Given the description of an element on the screen output the (x, y) to click on. 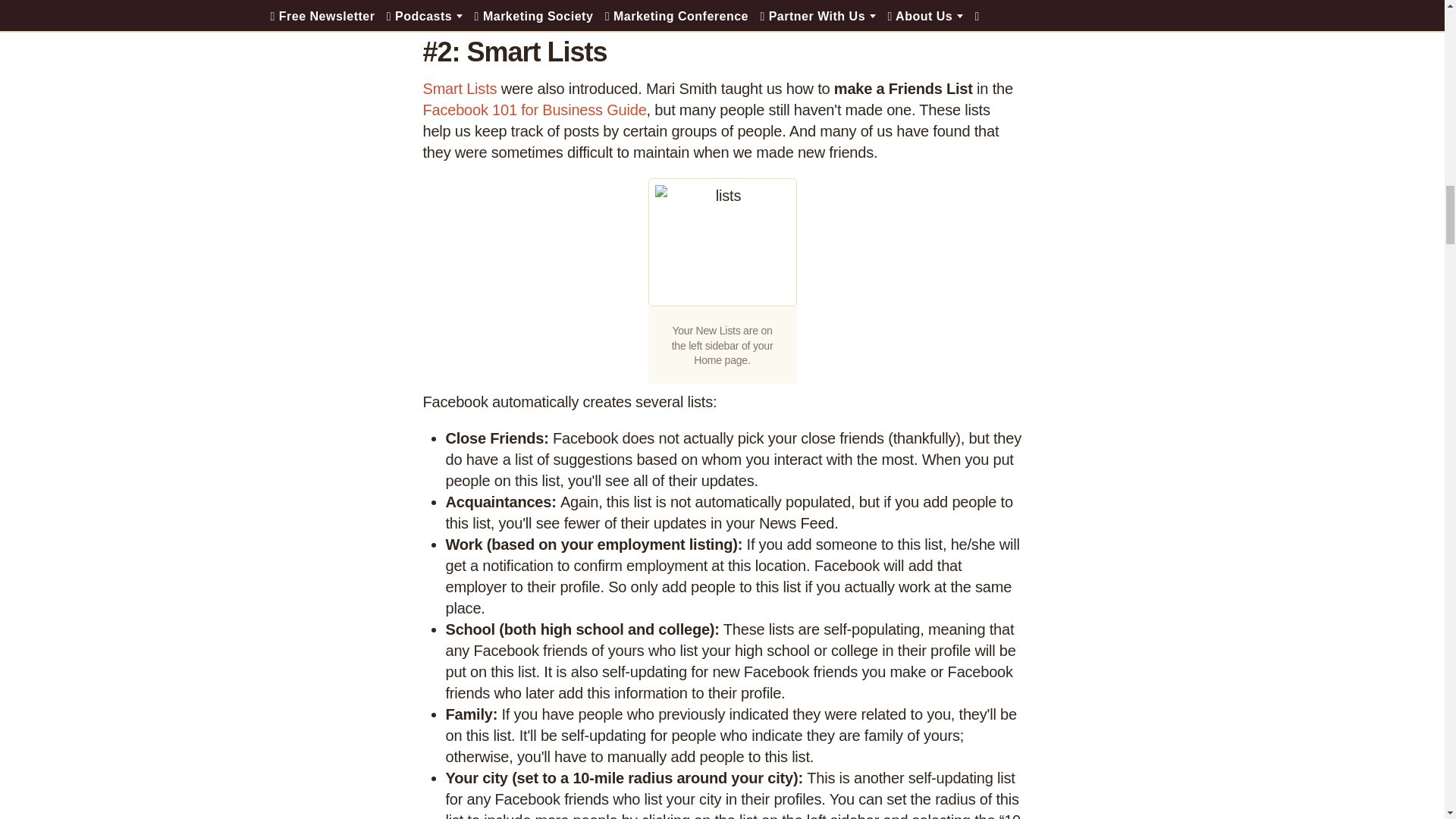
Facebook 101 for Business Guide (534, 109)
Smart Lists (460, 88)
